Given the description of an element on the screen output the (x, y) to click on. 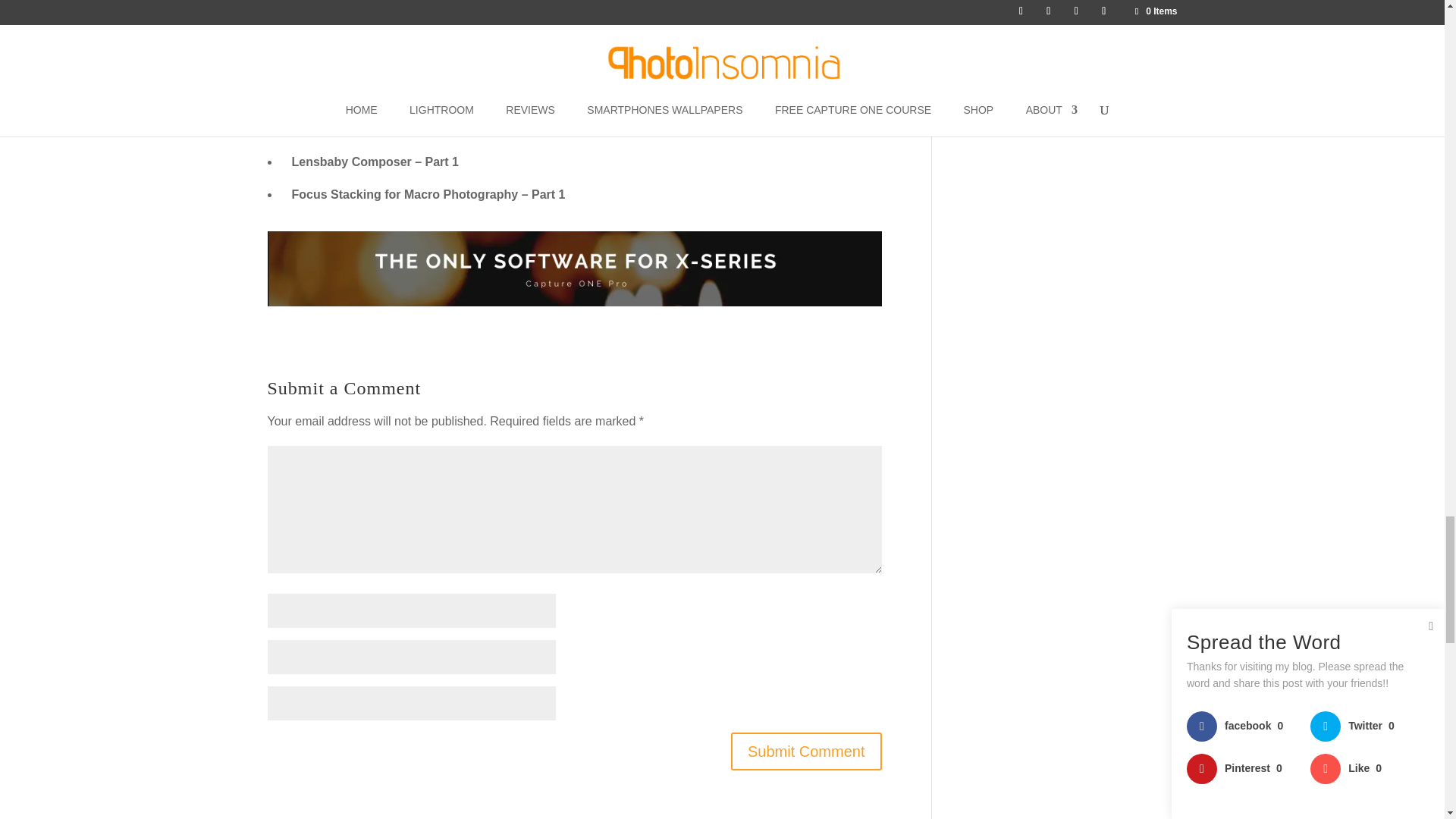
Removing People or Tourists from your Photos (427, 128)
Removing People or Tourists from your Photos (427, 128)
Shoot Extreme Macro without Macro Lens (411, 62)
Shoot Extreme Macro without Macro Lens (411, 62)
Make the Cage and Fence Disappear (395, 96)
Make the Cage and Fence Disappear (395, 96)
Submit Comment (806, 751)
